Given the description of an element on the screen output the (x, y) to click on. 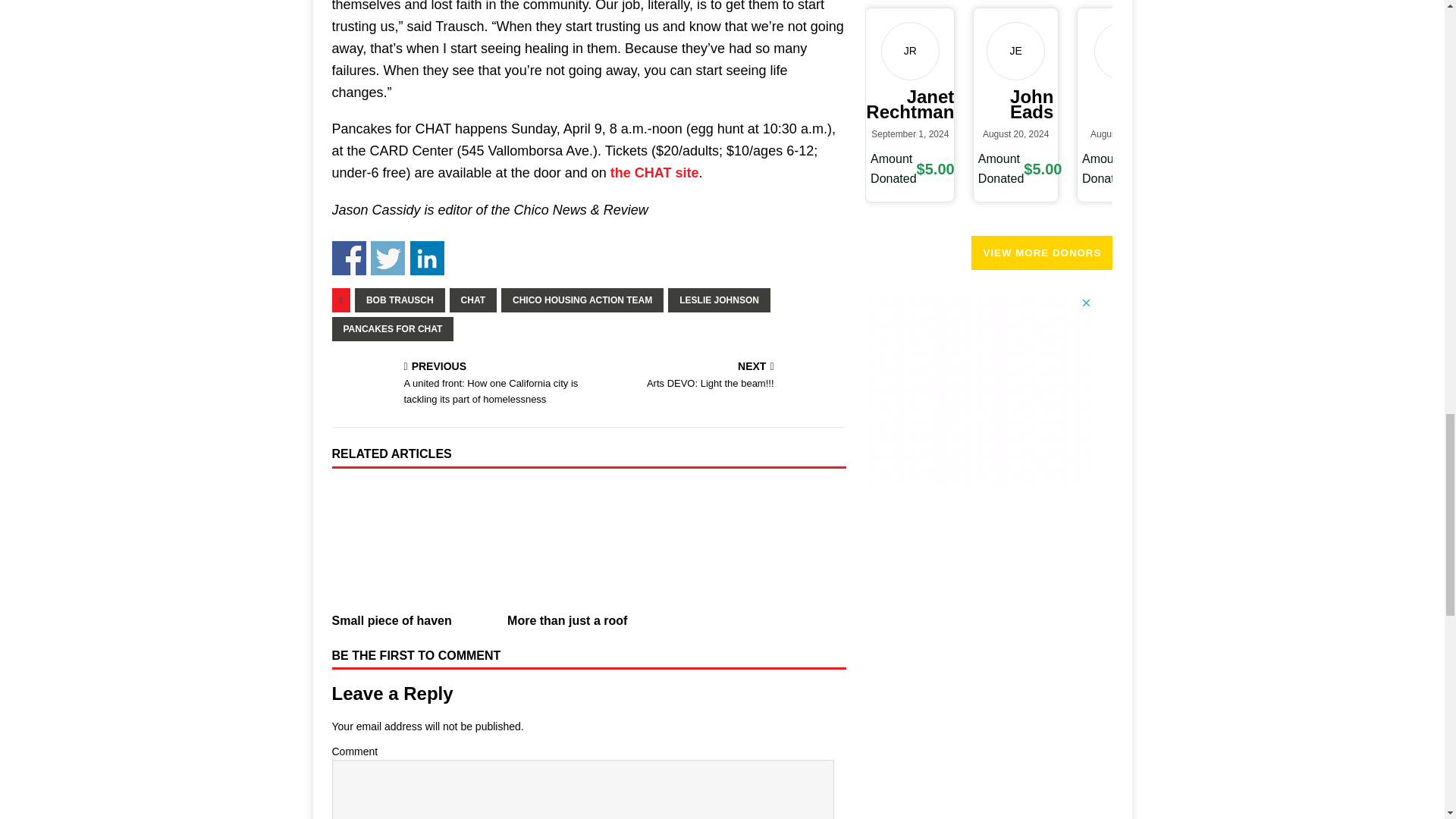
More than just a roof (566, 620)
Small piece of haven (391, 620)
More than just a roof (587, 545)
Small piece of haven (413, 545)
